Given the description of an element on the screen output the (x, y) to click on. 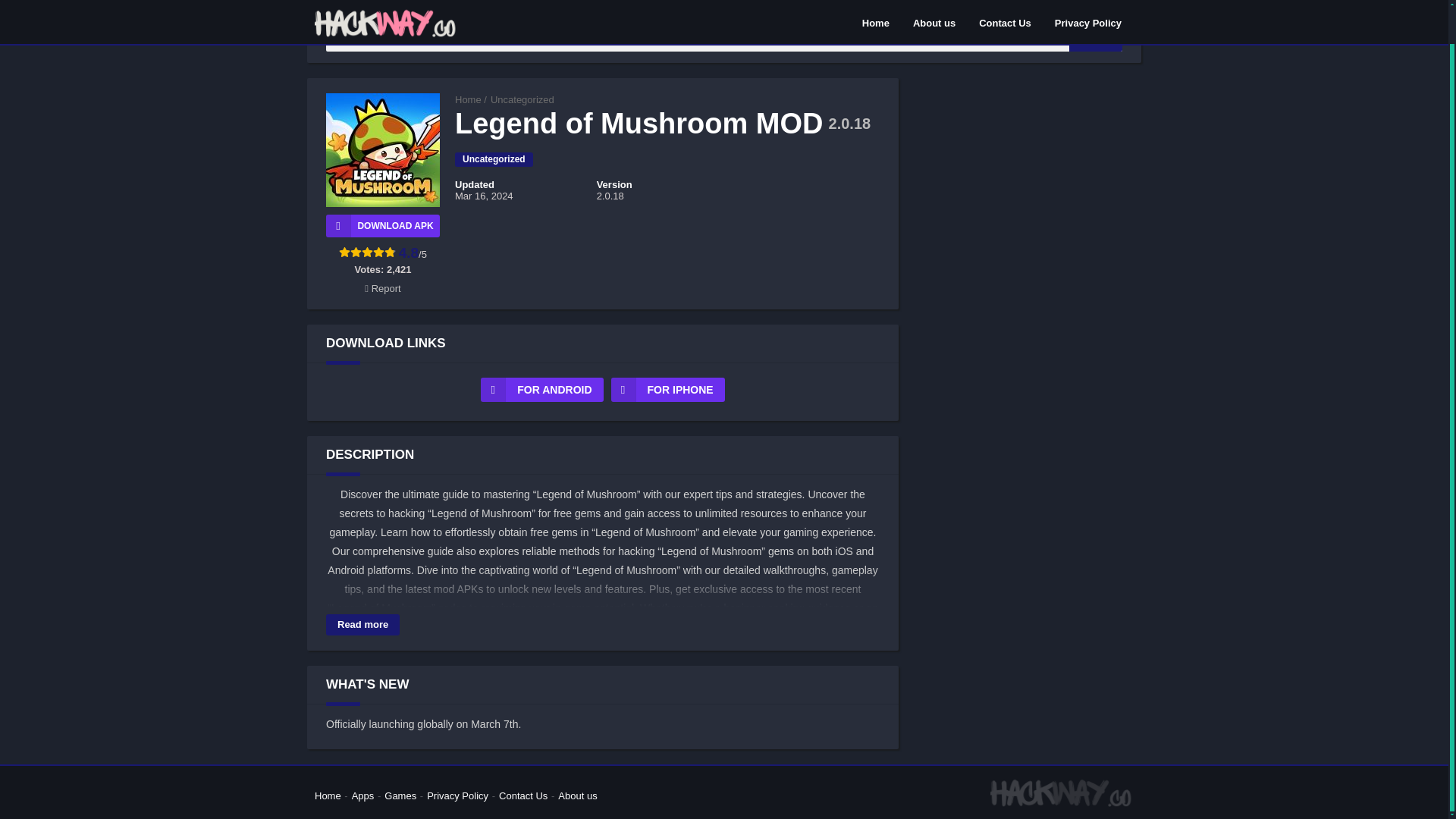
Download APK (382, 225)
Apps (363, 795)
Games (400, 795)
Contact Us (523, 795)
Uncategorized (522, 99)
Home (467, 99)
About us (576, 795)
Uncategorized (493, 159)
Home (327, 795)
HACKWAY.CO (467, 99)
FOR ANDROID (541, 389)
FOR IPHONE (668, 389)
DOWNLOAD APK (382, 225)
Privacy Policy (456, 795)
App search (1095, 34)
